Given the description of an element on the screen output the (x, y) to click on. 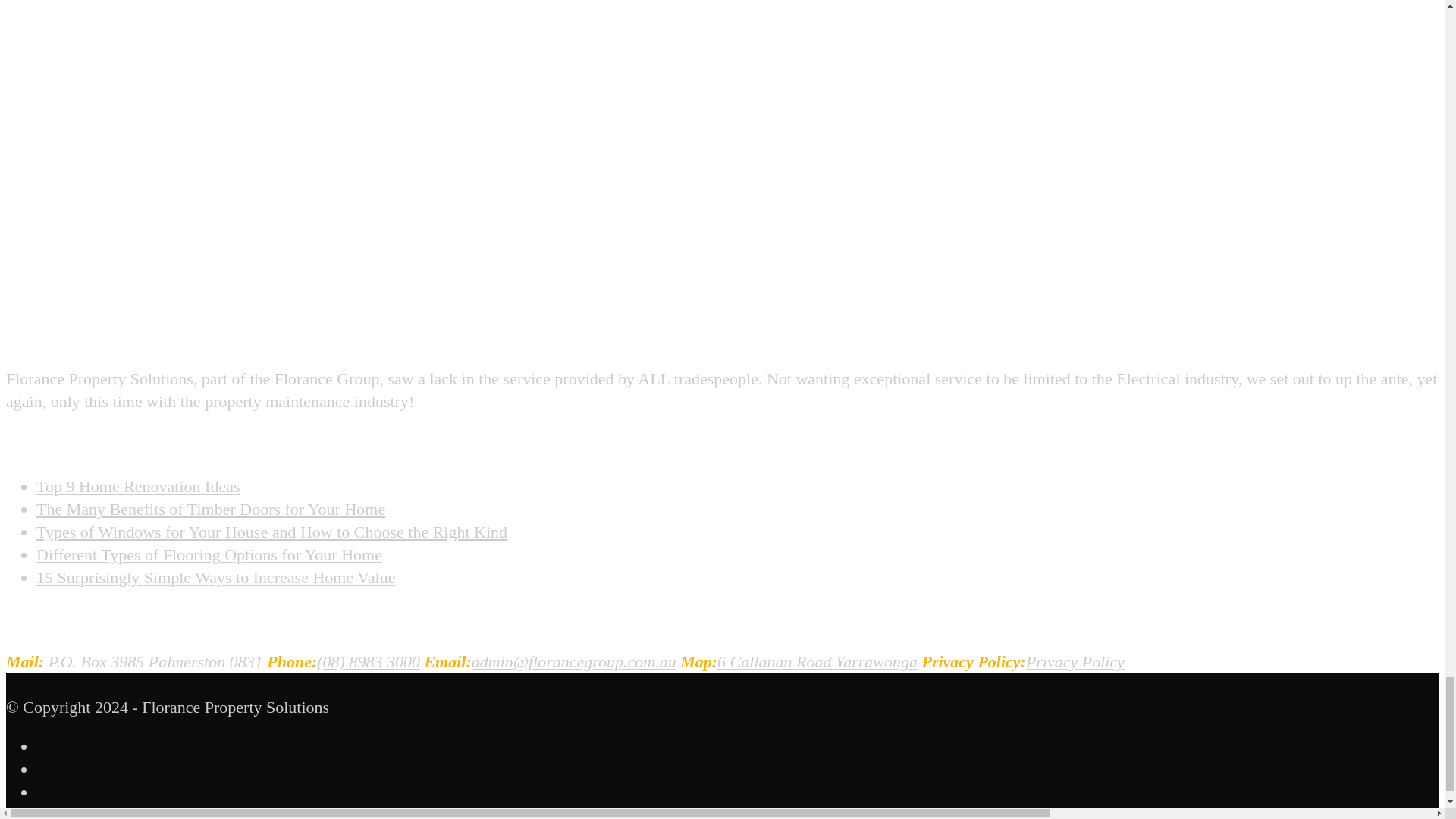
Different Types of Flooring Options for Your Home (208, 554)
The Many Benefits of Timber Doors for Your Home (210, 508)
Top 9 Home Renovation Ideas (138, 486)
